Given the description of an element on the screen output the (x, y) to click on. 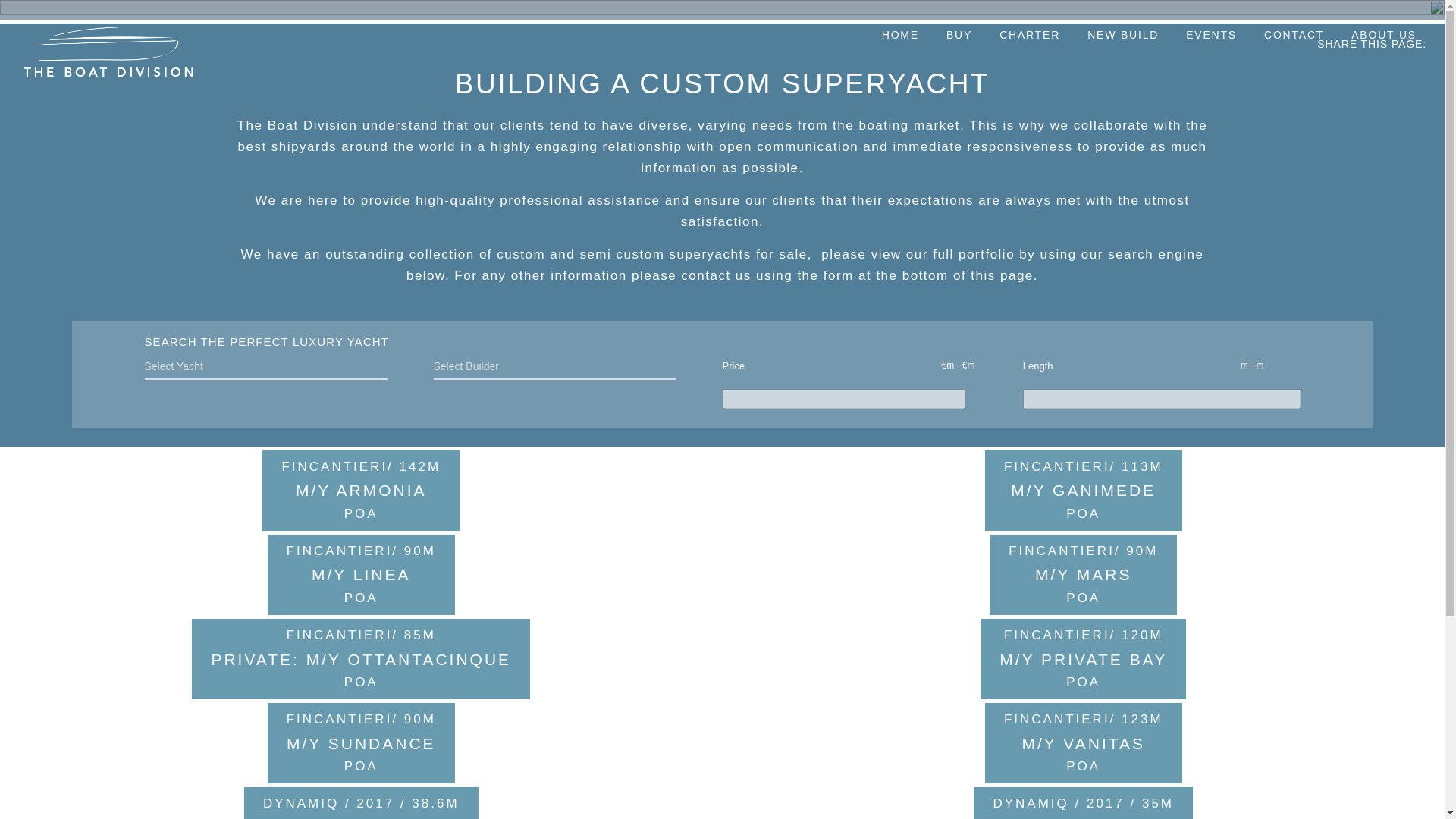
POA (1082, 766)
EVENTS (1211, 37)
POA (360, 766)
ABOUT US (1383, 37)
POA (360, 513)
CONTACT (1293, 37)
POA (1082, 598)
POA (360, 682)
POA (1082, 513)
NEW BUILD (1122, 37)
